Given the description of an element on the screen output the (x, y) to click on. 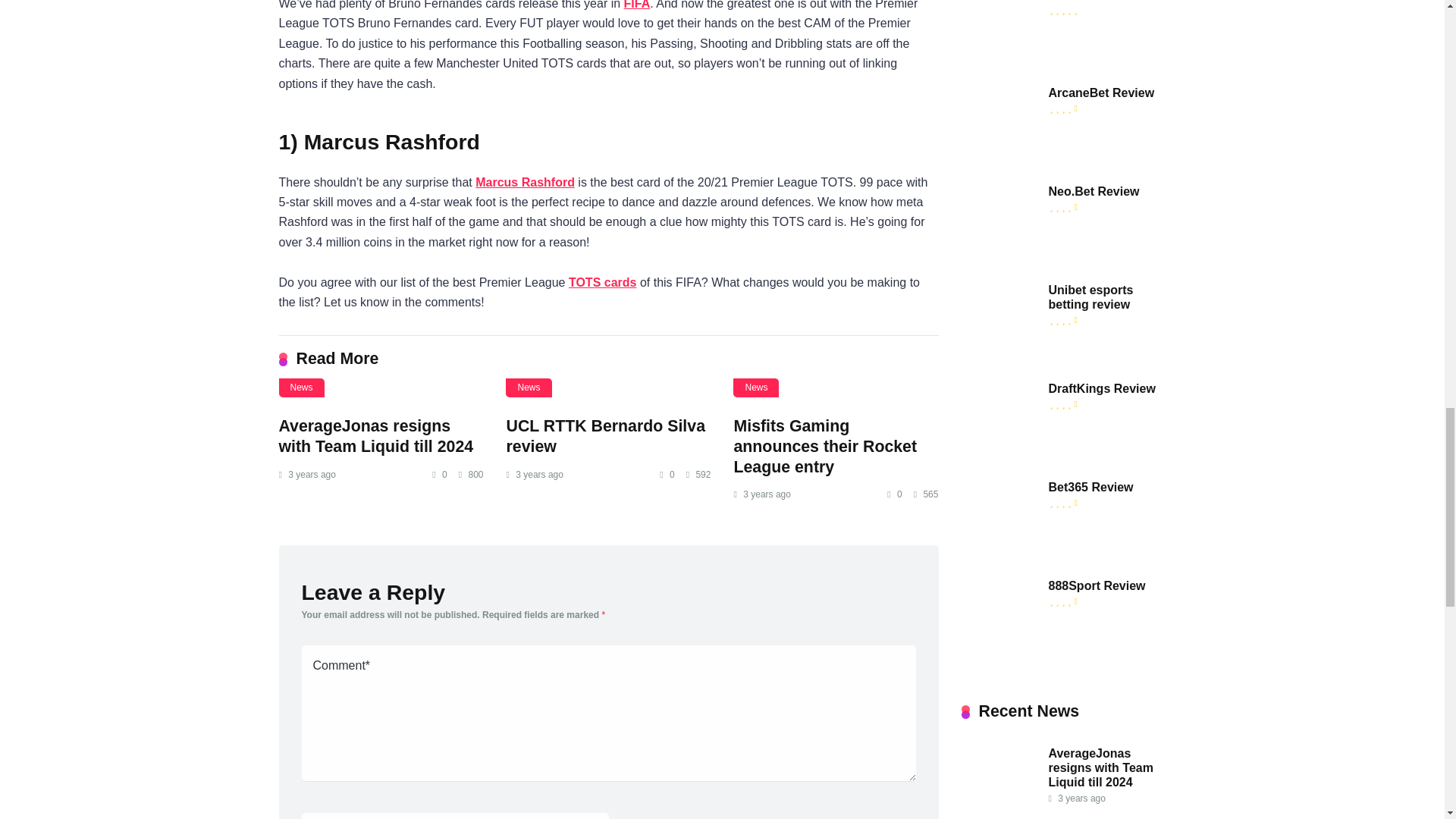
News (755, 387)
News (301, 387)
AverageJonas resigns with Team Liquid till 2024 (376, 435)
UCL RTTK Bernardo Silva review (604, 435)
Marcus Rashford (525, 182)
UCL RTTK Bernardo Silva review (607, 395)
UCL RTTK Bernardo Silva review (604, 435)
Misfits Gaming announces their Rocket League entry (825, 445)
FIFA (637, 4)
News (528, 387)
